Given the description of an element on the screen output the (x, y) to click on. 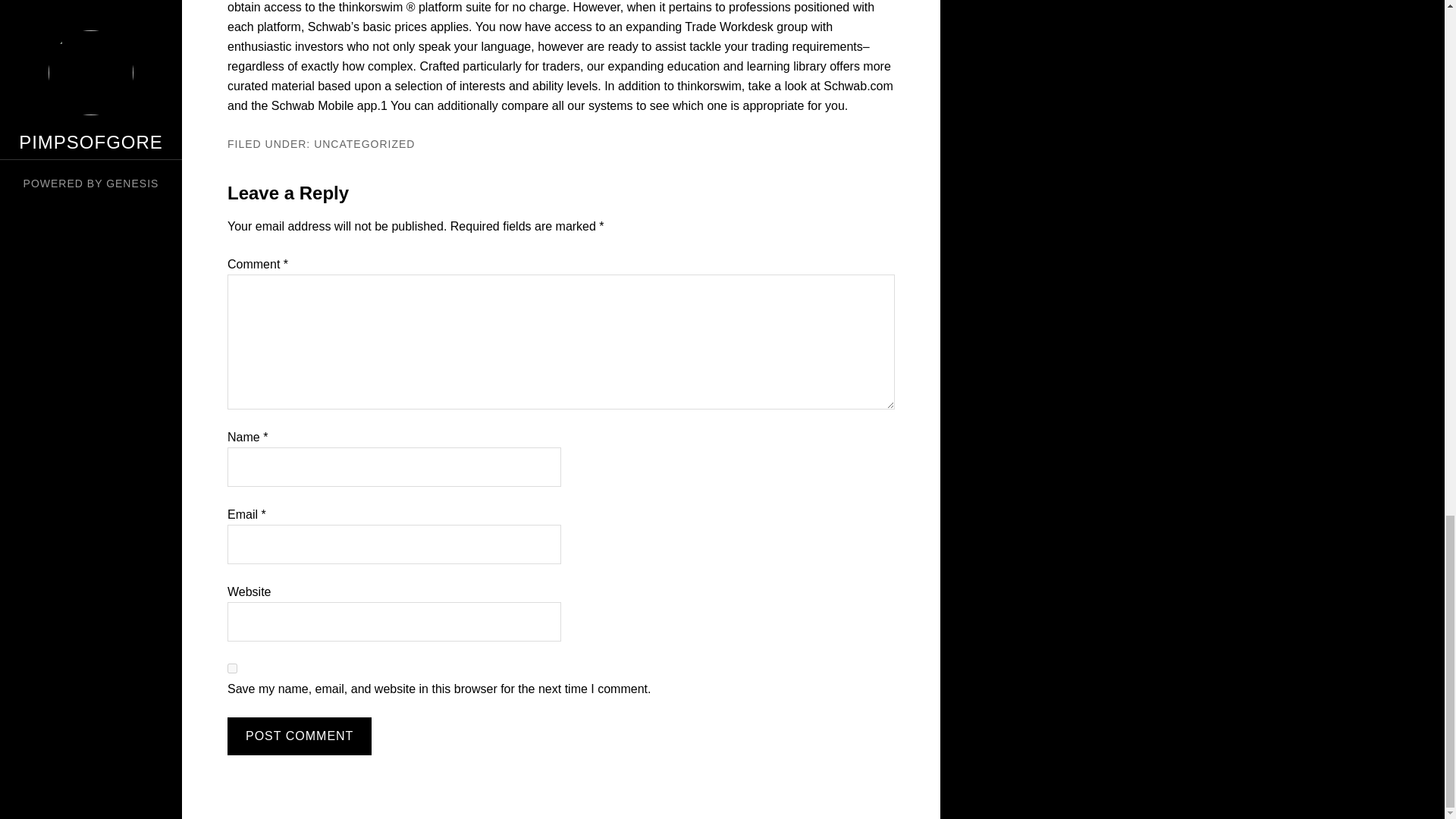
Post Comment (299, 736)
Post Comment (299, 736)
yes (232, 668)
UNCATEGORIZED (364, 143)
